Given the description of an element on the screen output the (x, y) to click on. 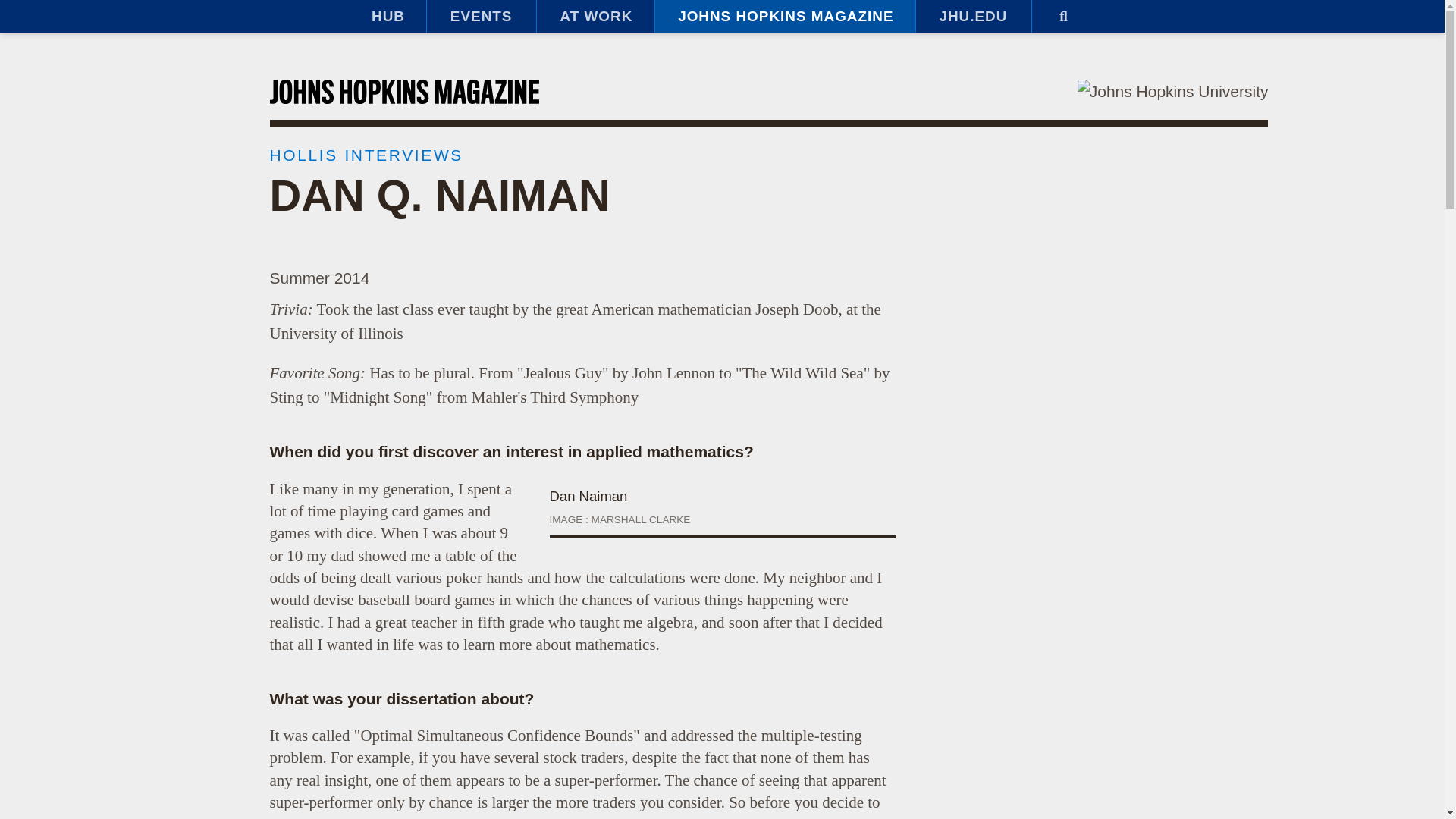
HUB (386, 16)
EVENTS (480, 16)
Johns Hopkins University (1172, 91)
AT WORK (594, 16)
JHU.EDU (972, 16)
JOHNS HOPKINS MAGAZINE (784, 16)
